Given the description of an element on the screen output the (x, y) to click on. 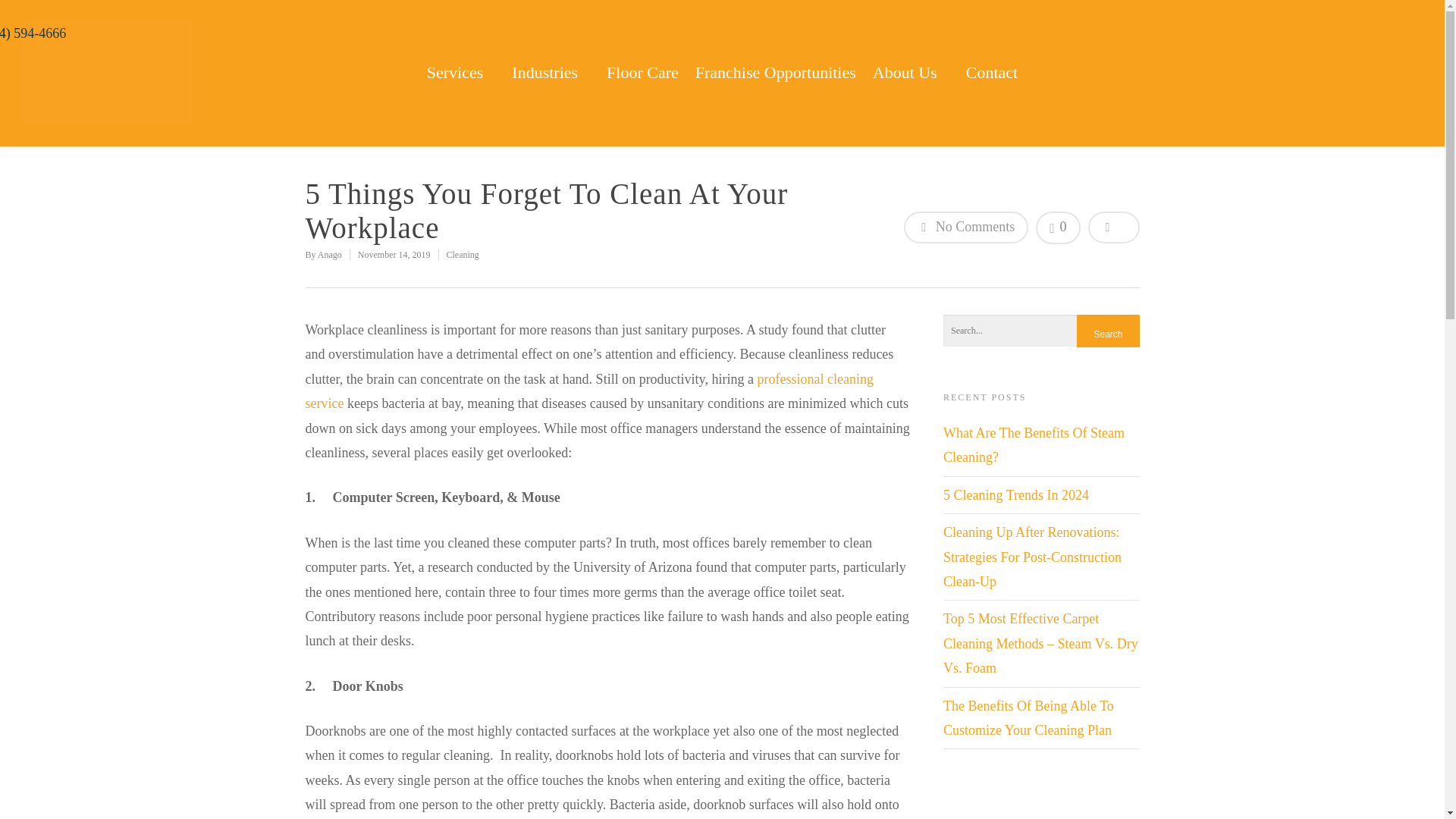
Anago (329, 254)
Posts by Anago (329, 254)
Franchise Opportunities (775, 83)
Search (1107, 333)
No Comments (965, 227)
0 (1057, 227)
Search (1107, 333)
professional cleaning service (588, 391)
Services (461, 53)
Search for: (1041, 330)
